Given the description of an element on the screen output the (x, y) to click on. 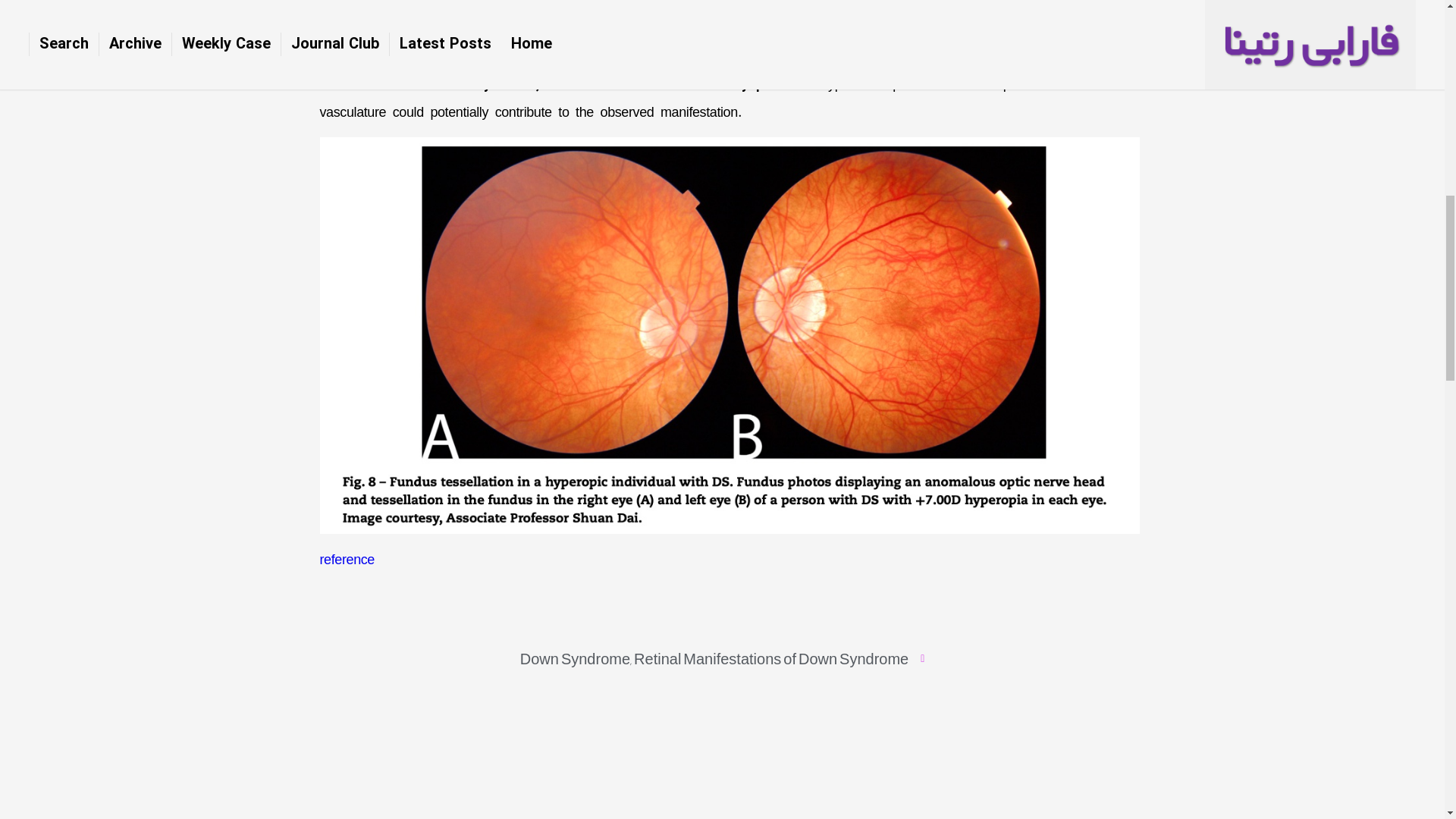
reference (347, 559)
reference (347, 559)
Retinal Manifestations of Down Syndrome (770, 658)
Down Syndrome (574, 658)
